Given the description of an element on the screen output the (x, y) to click on. 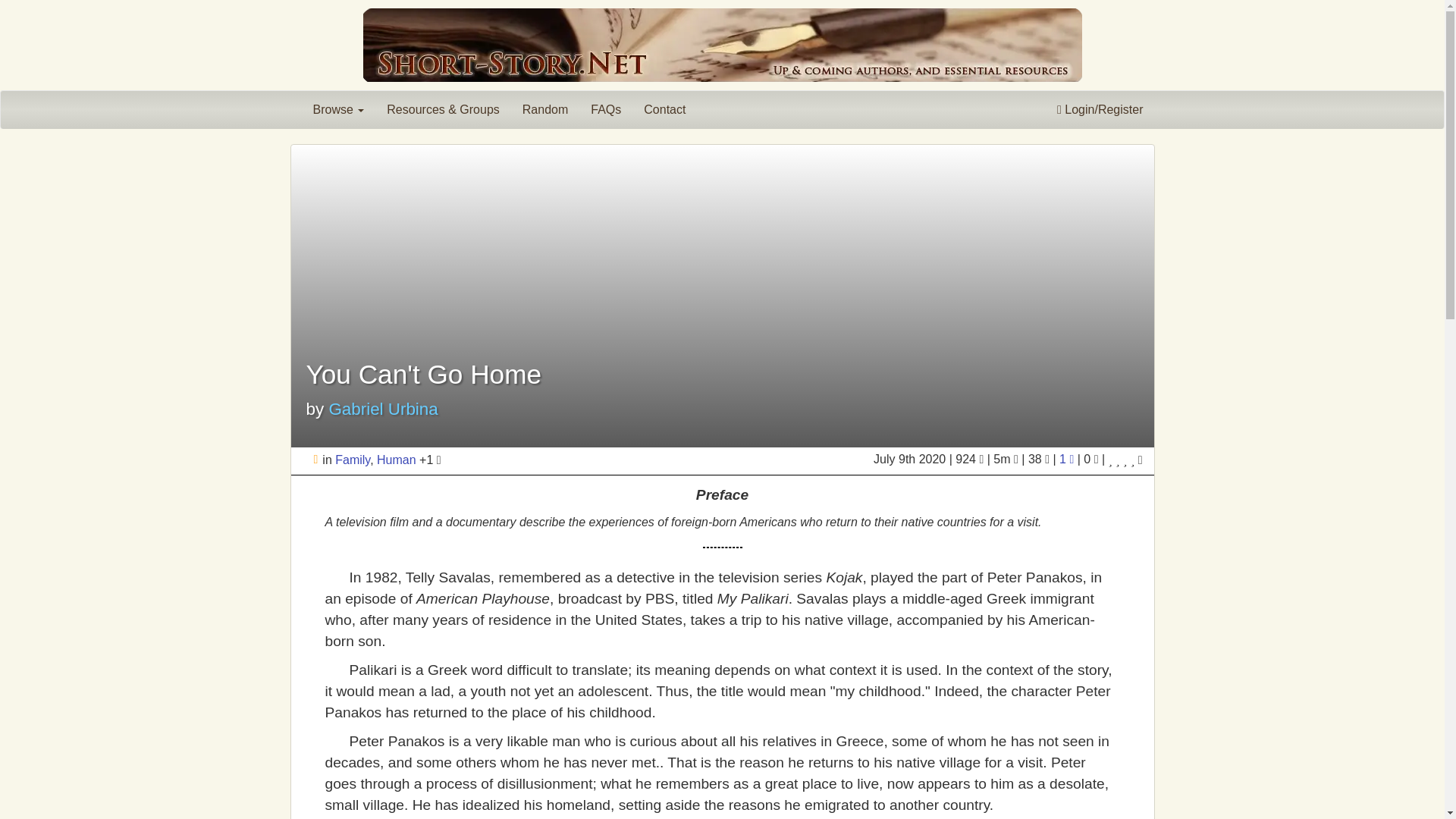
Browse (338, 109)
Random (545, 109)
Human (396, 459)
Family (351, 459)
Contact (664, 109)
Gabriel Urbina (383, 408)
FAQs (605, 109)
1 (1068, 459)
